Given the description of an element on the screen output the (x, y) to click on. 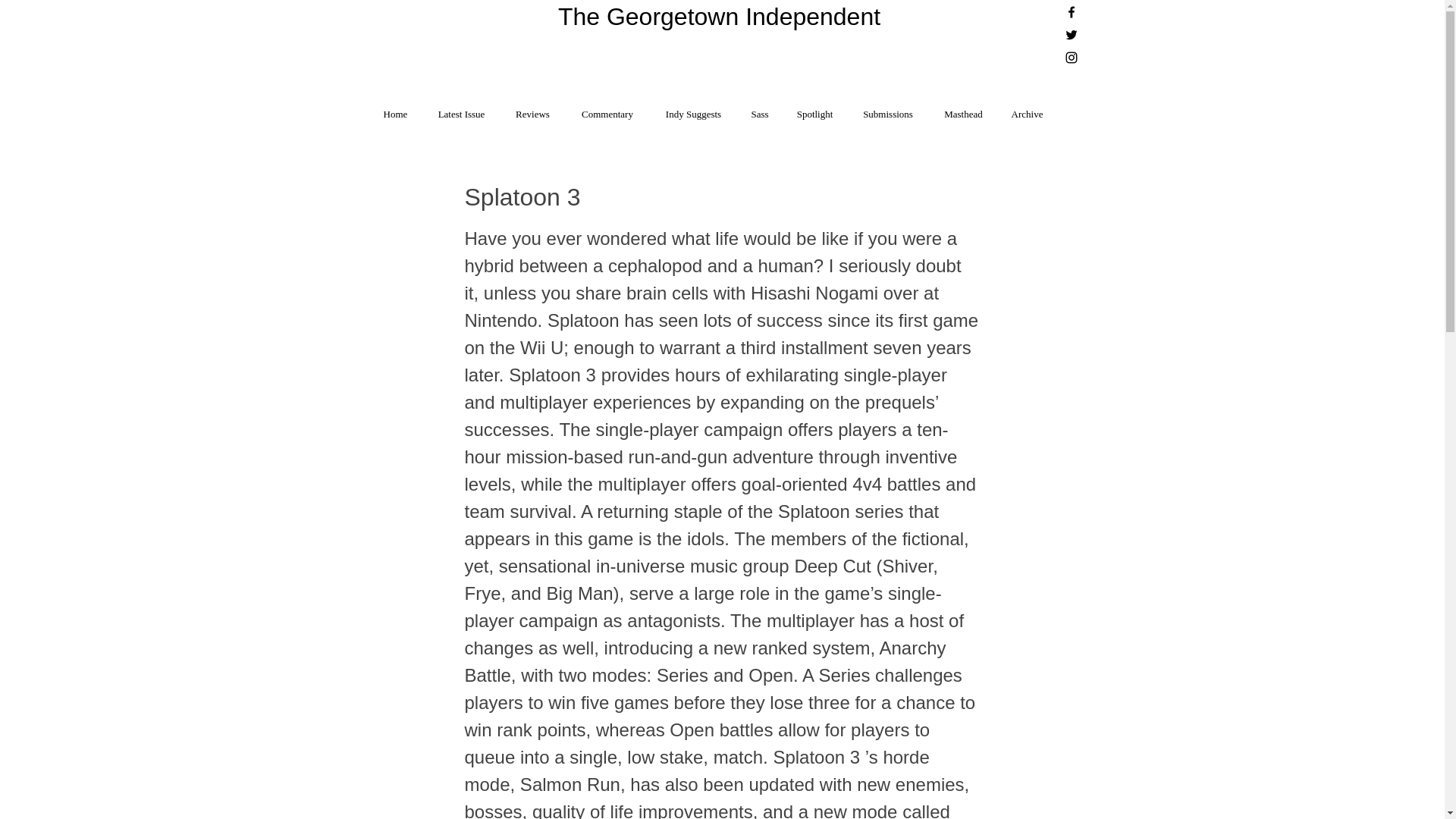
Masthead (963, 107)
Sass (759, 107)
Archive (1027, 107)
The Georgetown Independent (718, 16)
Commentary (606, 107)
Latest Issue (461, 107)
Reviews (532, 107)
Indy Suggests (693, 107)
Submissions (886, 107)
Home (395, 107)
Spotlight (814, 107)
